Given the description of an element on the screen output the (x, y) to click on. 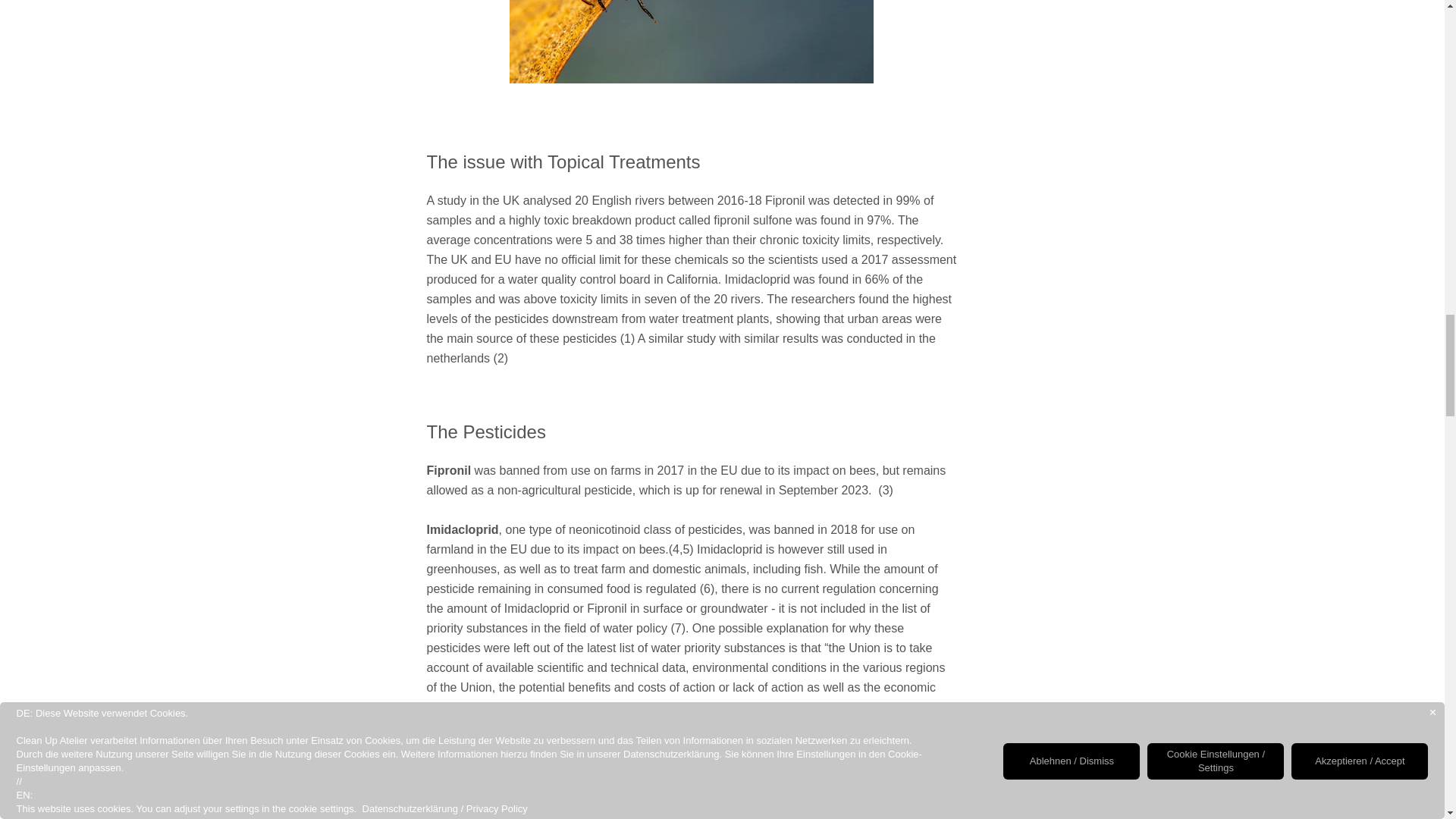
Zeckenschutz Pestizide (691, 41)
